Given the description of an element on the screen output the (x, y) to click on. 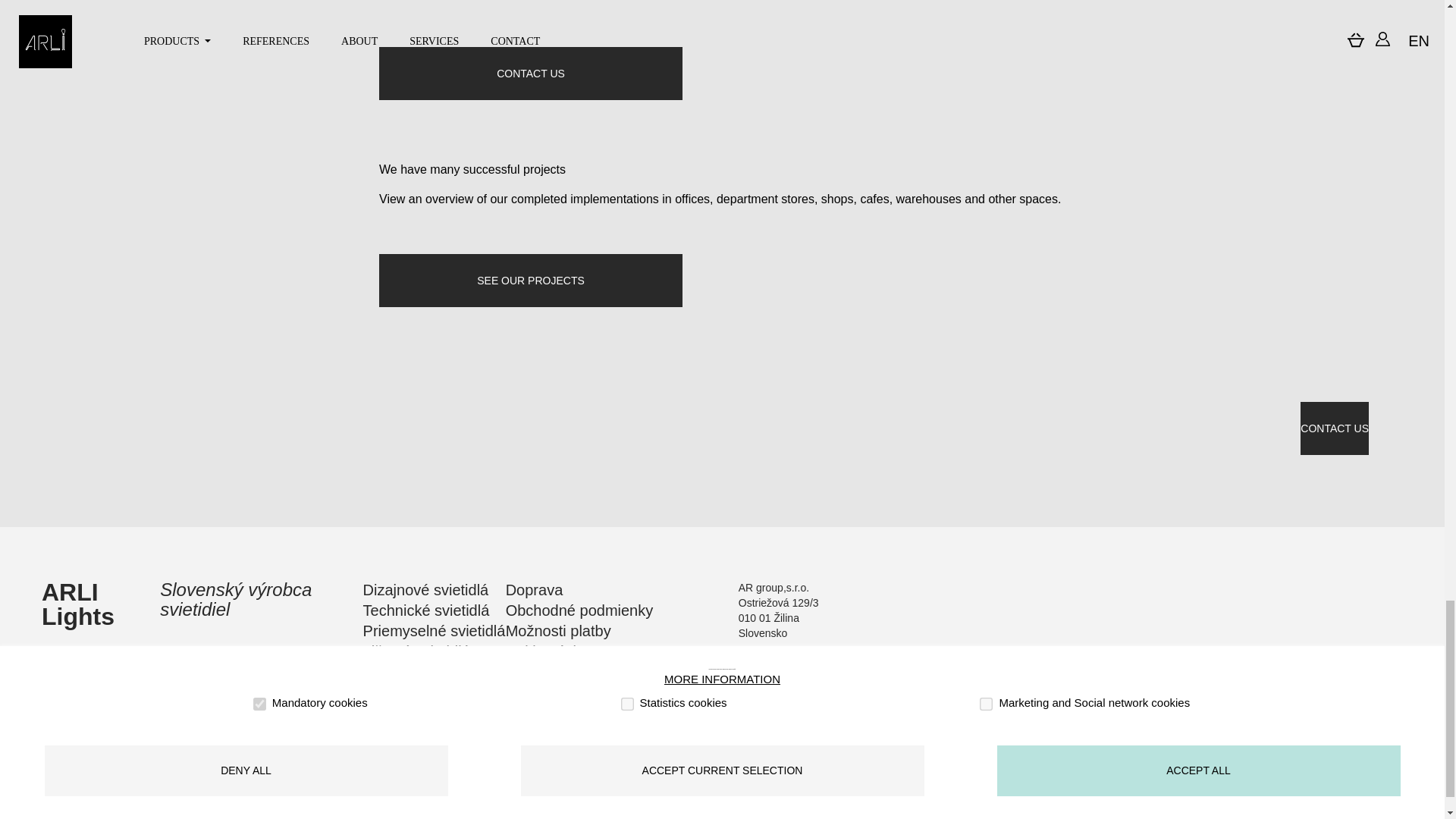
CONTACT US (530, 72)
SEE OUR PROJECTS (530, 280)
CONTACT US (1334, 428)
